Given the description of an element on the screen output the (x, y) to click on. 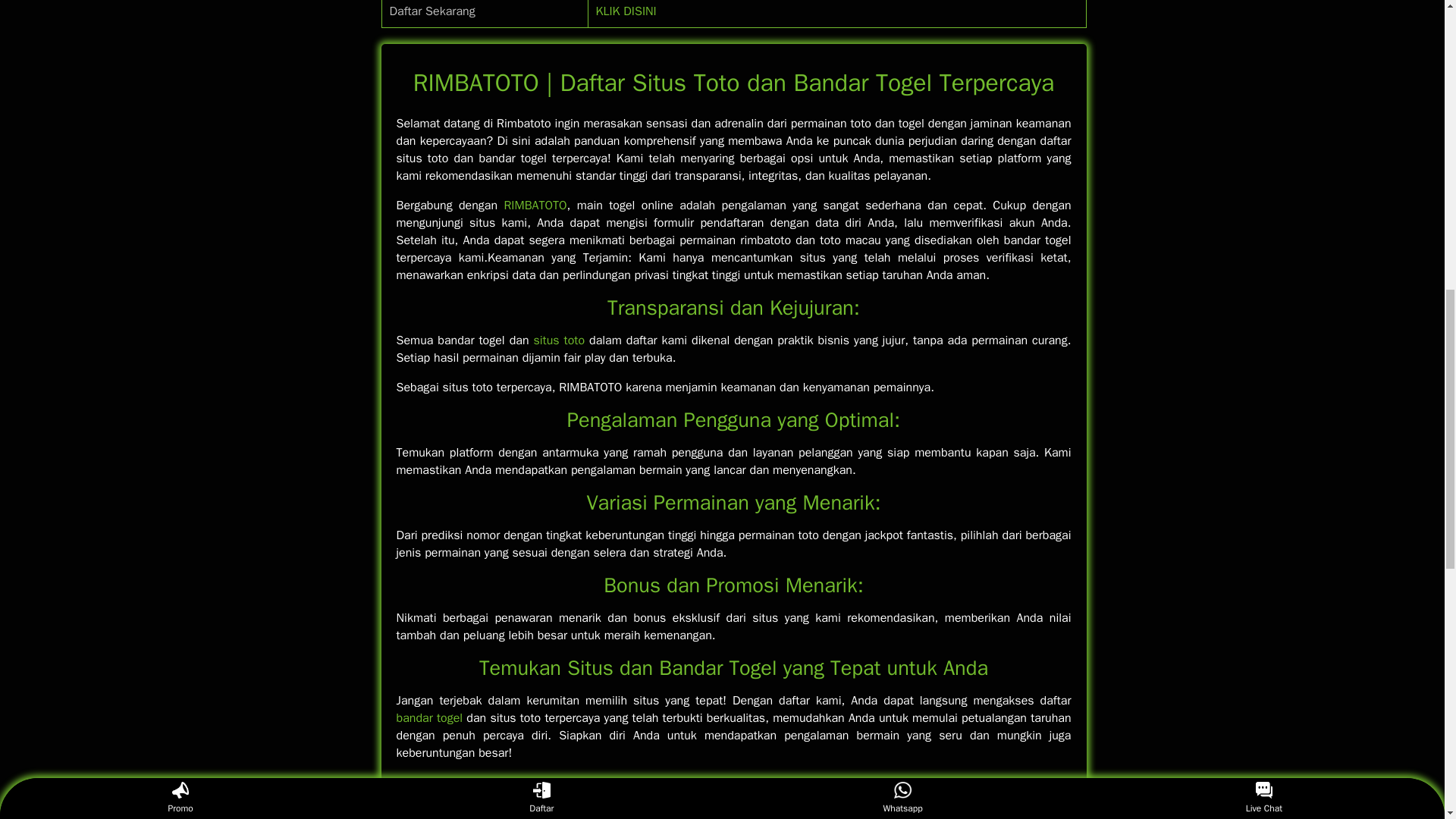
situs toto (558, 340)
bandar togel (429, 717)
KLIK DISINI (625, 11)
bandar togel (429, 717)
RIMBATOTO (534, 205)
situs toto (558, 340)
RIMBATOTO (534, 205)
